Given the description of an element on the screen output the (x, y) to click on. 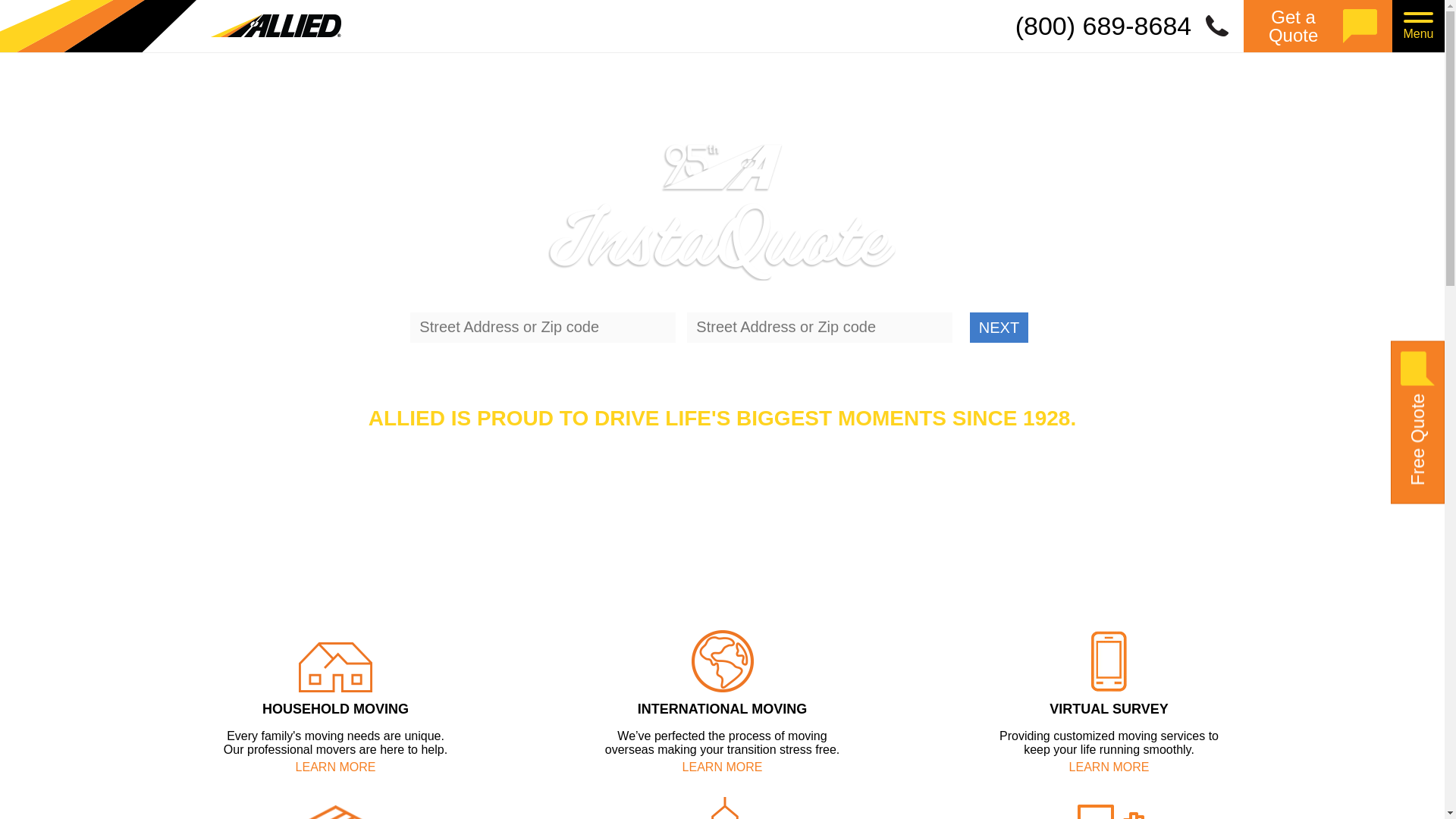
Call Allied (1129, 26)
Allied Van Lines (170, 26)
Allied Movers (170, 26)
NEXT (998, 327)
Get a Quote (1317, 26)
InstaQuote-95-Logo-White-Shadow-460x184 (721, 210)
Menu (1417, 26)
